Given the description of an element on the screen output the (x, y) to click on. 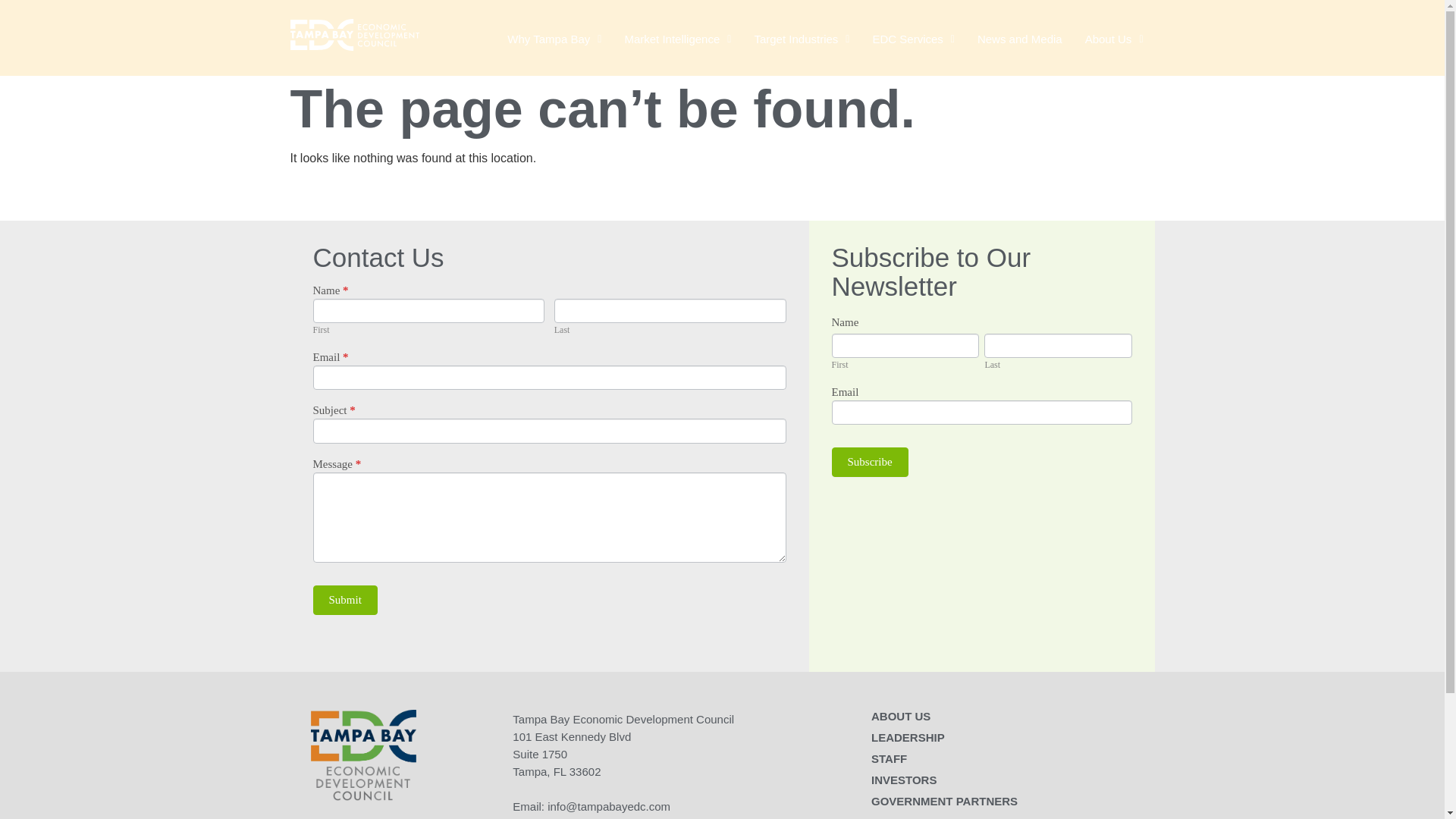
News and Media (1020, 38)
About Us (1114, 38)
Market Intelligence (677, 38)
EDC Services (912, 38)
Why Tampa Bay (554, 38)
Target Industries (801, 38)
